Given the description of an element on the screen output the (x, y) to click on. 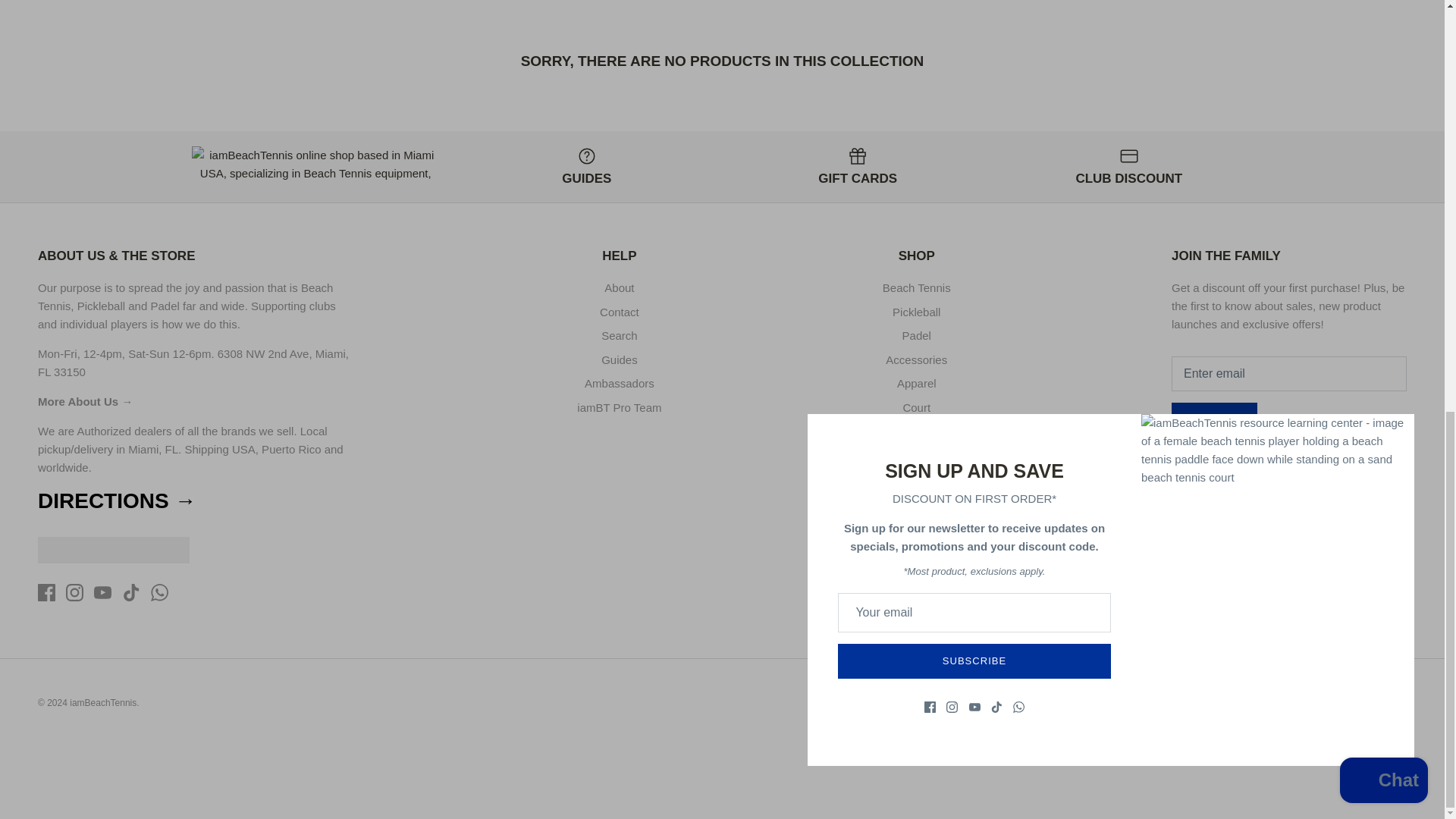
Instagram (1208, 468)
Beach Tennis (185, 296)
Instagram (73, 592)
Youtube (103, 592)
about (78, 400)
Pickleball (101, 305)
Padel (164, 305)
Facebook (46, 592)
Facebook (1180, 468)
